Given the description of an element on the screen output the (x, y) to click on. 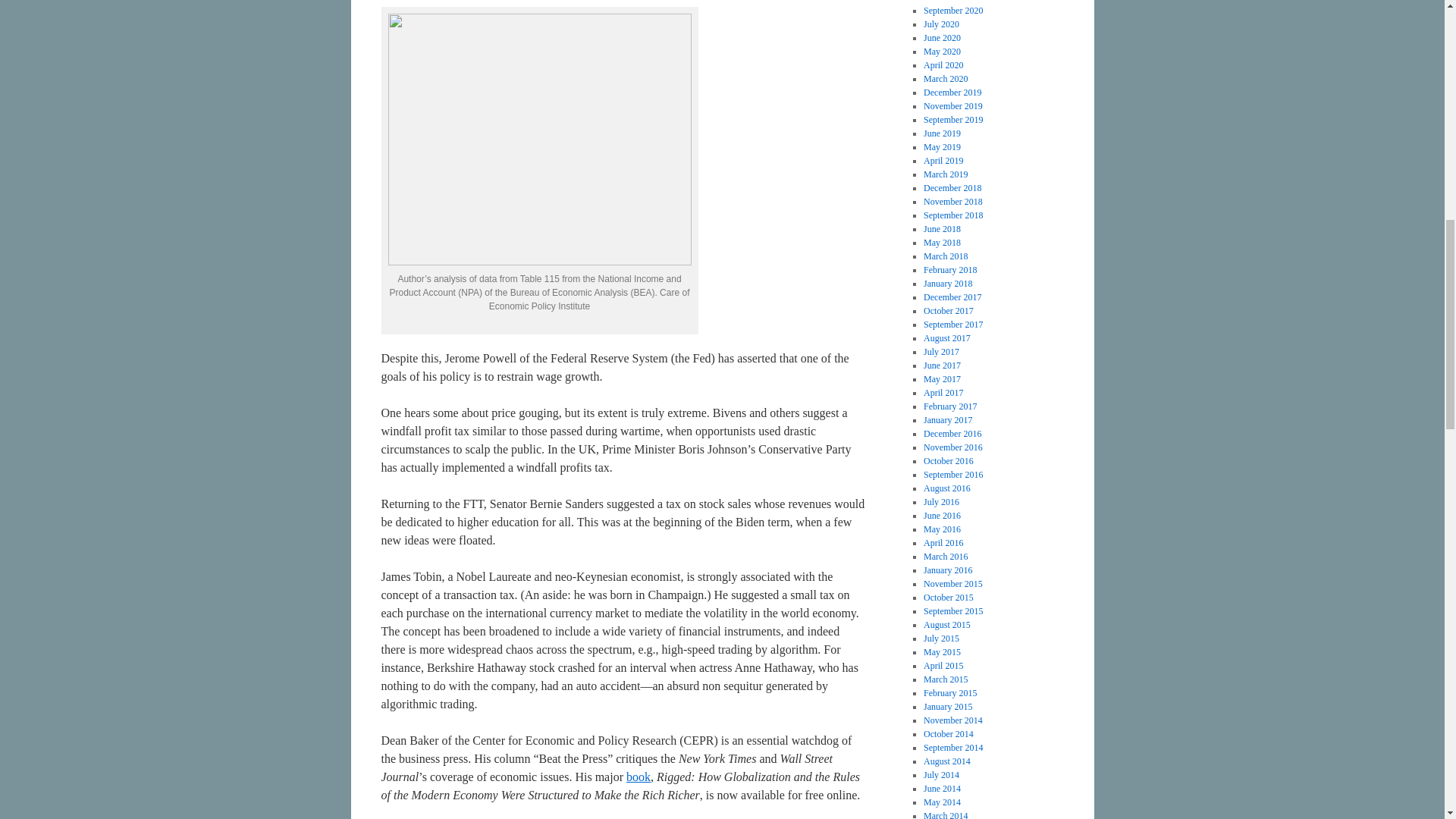
book (638, 776)
